Given the description of an element on the screen output the (x, y) to click on. 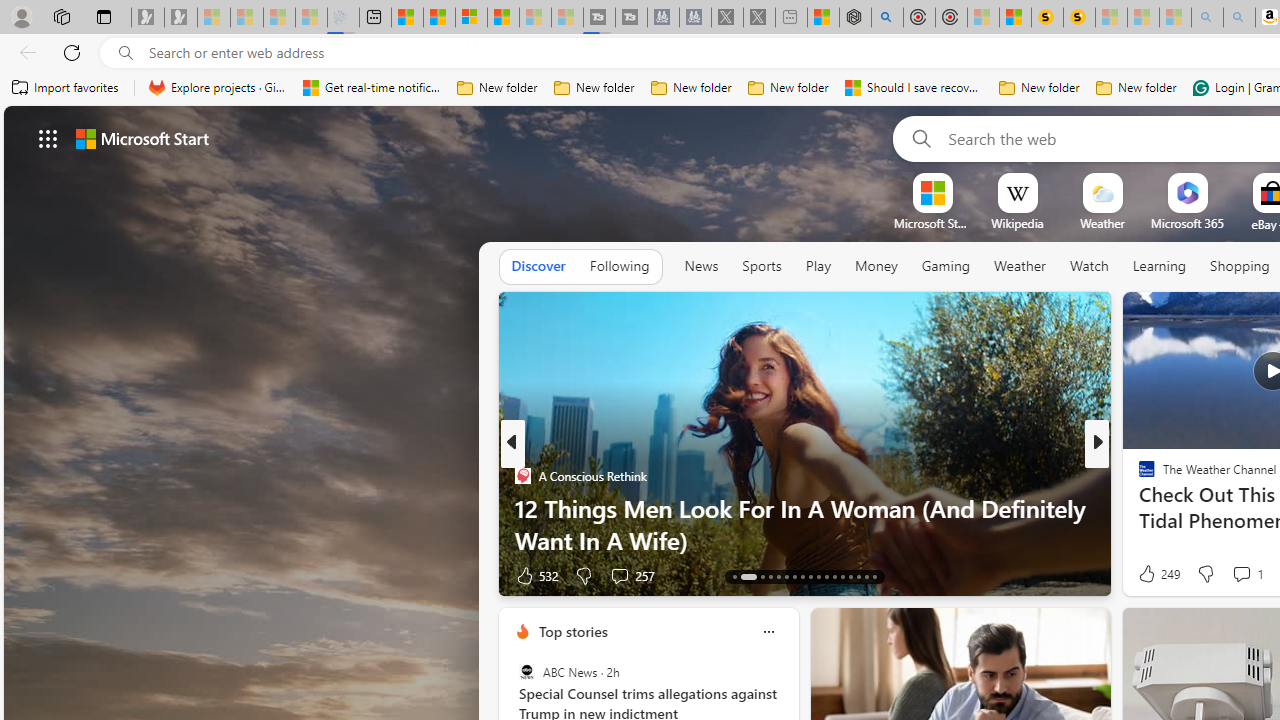
206 Like (1151, 574)
View comments 8 Comment (1234, 574)
The Independent (1138, 475)
Overview (471, 17)
AutomationID: tab-24 (833, 576)
View comments 192 Comment (1234, 575)
Weather (1019, 267)
Newsletter Sign Up - Sleeping (181, 17)
View comments 2 Comment (1222, 575)
